Given the description of an element on the screen output the (x, y) to click on. 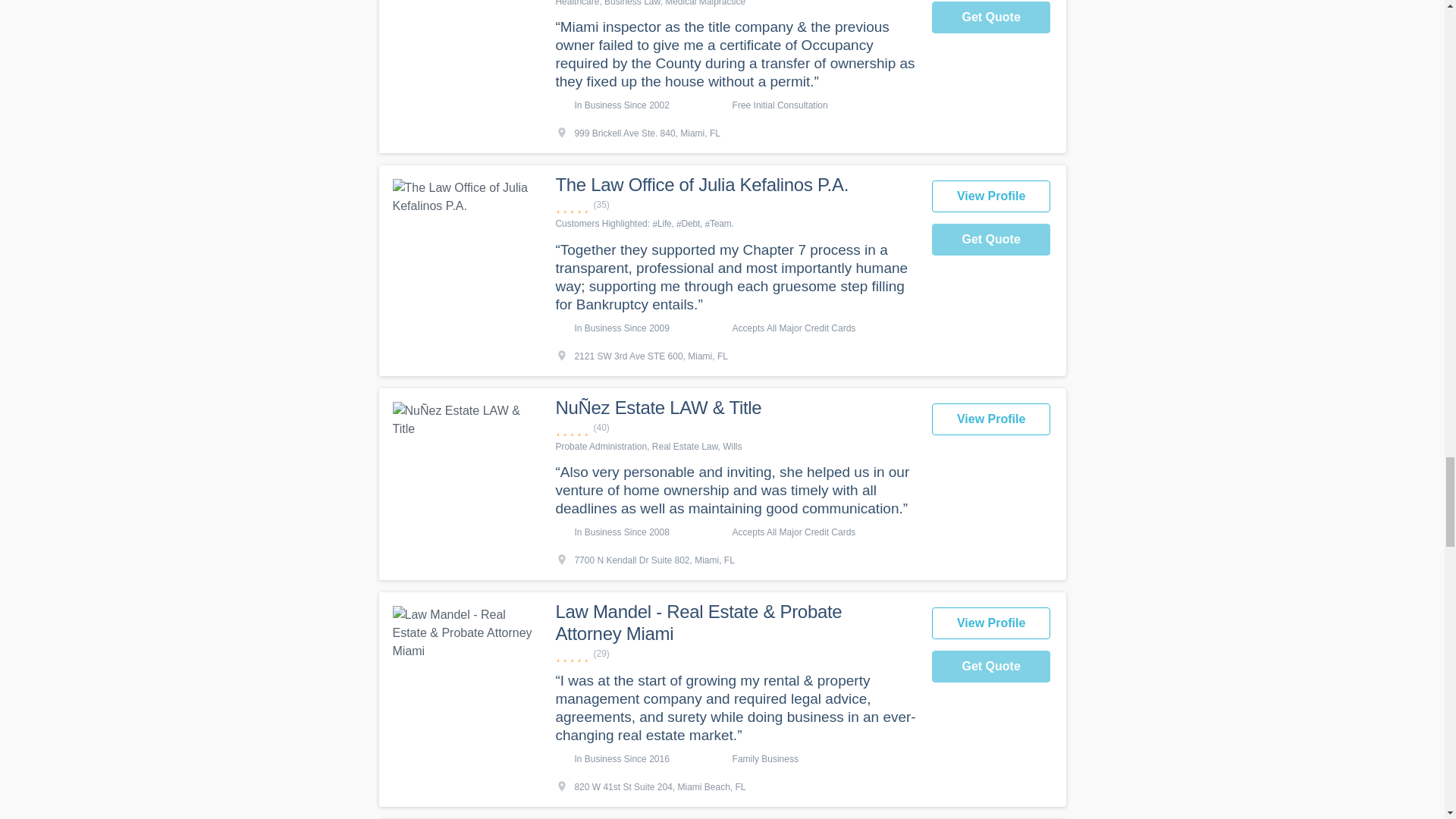
5.0 (734, 653)
4.9 (734, 205)
4.9 (734, 427)
